Given the description of an element on the screen output the (x, y) to click on. 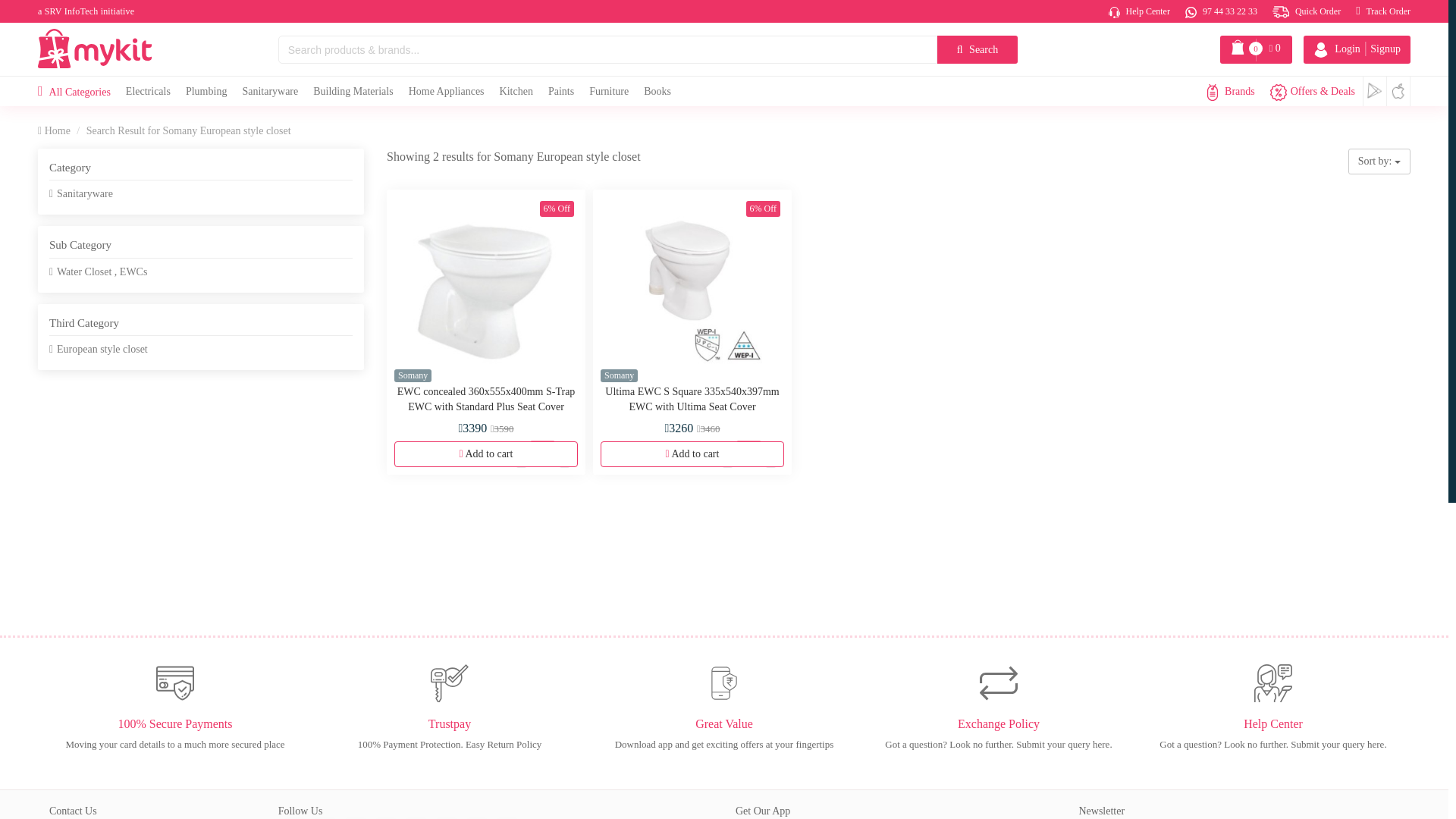
a SRV InfoTech initiative (85, 11)
Track Order (1382, 10)
0 (542, 453)
Search (977, 49)
Quick Order (1306, 10)
Help Center (1139, 10)
0 (748, 453)
97 44 33 22 33 (1256, 49)
